Given the description of an element on the screen output the (x, y) to click on. 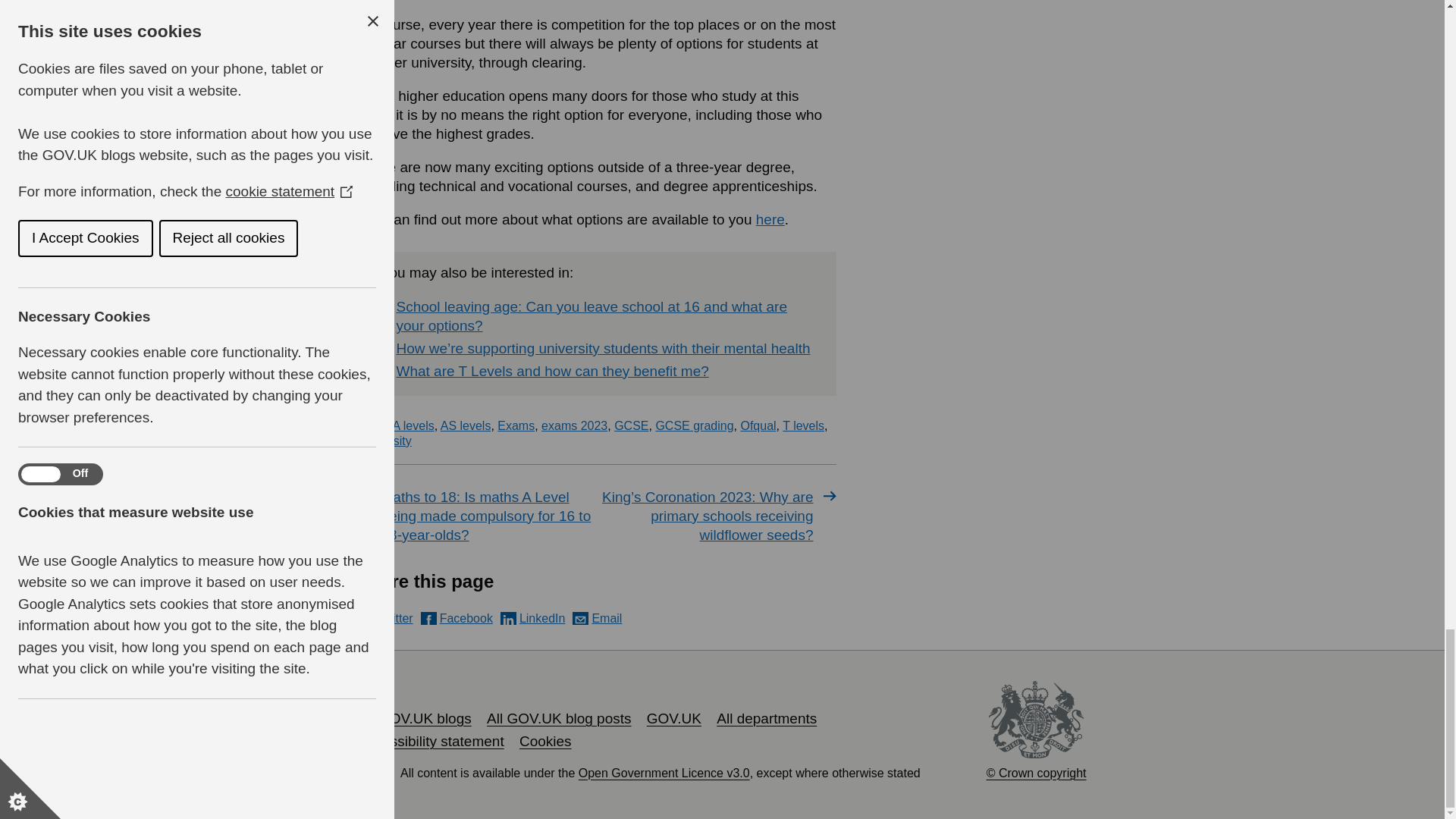
University (384, 440)
GCSE (630, 425)
Twitter (385, 617)
What are T Levels and how can they benefit me? (551, 371)
Exams (515, 425)
here (769, 219)
AS levels (466, 425)
GCSE grading (694, 425)
Facebook (456, 617)
A levels (413, 425)
